Given the description of an element on the screen output the (x, y) to click on. 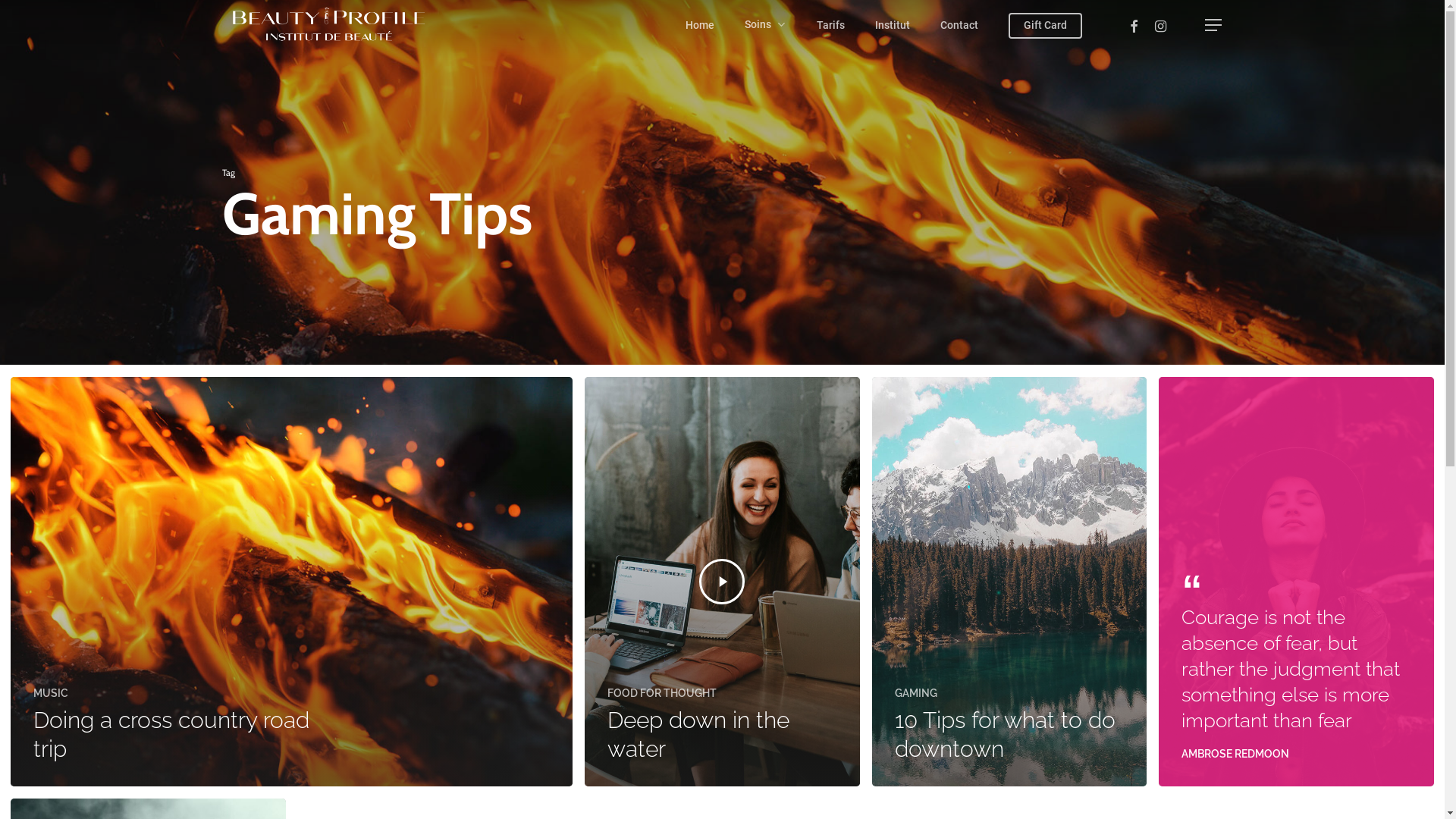
Soins Element type: text (765, 24)
Home Element type: text (699, 25)
FOOD FOR THOUGHT Element type: text (661, 692)
Menu Element type: text (1213, 25)
Deep down in the water Element type: text (698, 734)
Contact Element type: text (959, 25)
MUSIC Element type: text (50, 692)
instagram Element type: text (1159, 25)
Institut Element type: text (892, 25)
facebook Element type: text (695, 709)
Doing a cross country road trip Element type: text (171, 734)
GAMING Element type: text (915, 692)
10 Tips for what to do downtown Element type: text (1004, 734)
Tarifs Element type: text (829, 25)
Gift Card Element type: text (1045, 25)
facebook Element type: text (1132, 25)
instagram Element type: text (748, 709)
